Given the description of an element on the screen output the (x, y) to click on. 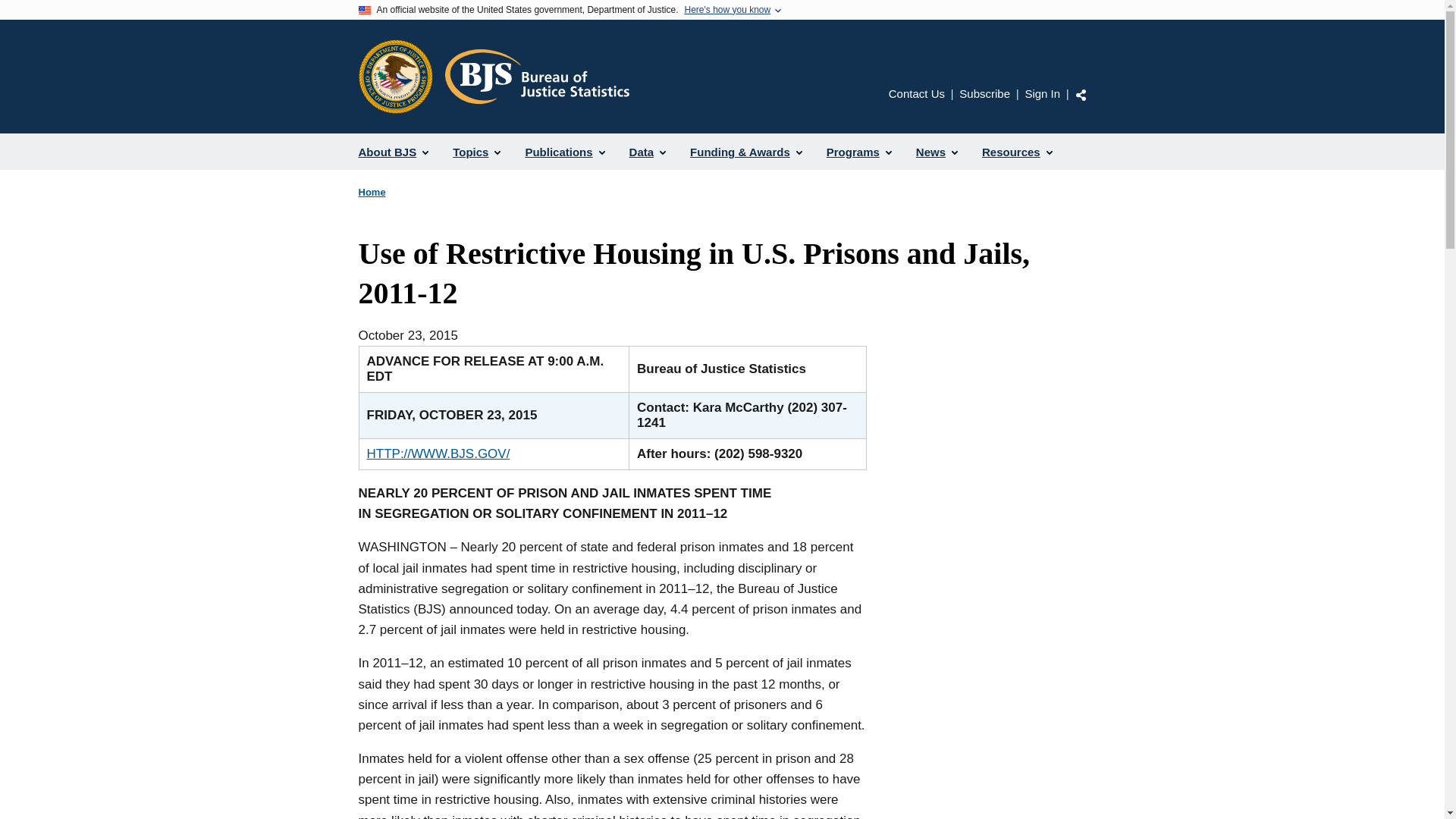
Data (647, 151)
Resources (1016, 151)
Contact Us (916, 93)
Home (536, 76)
Subscribe (984, 93)
Publications (563, 151)
Office of Justice Programs (395, 76)
Here's how you know (727, 9)
Home (371, 192)
Choose a social sharing platform (1080, 94)
Programs (858, 151)
News (936, 151)
Share (1080, 94)
About BJS (393, 151)
